Given the description of an element on the screen output the (x, y) to click on. 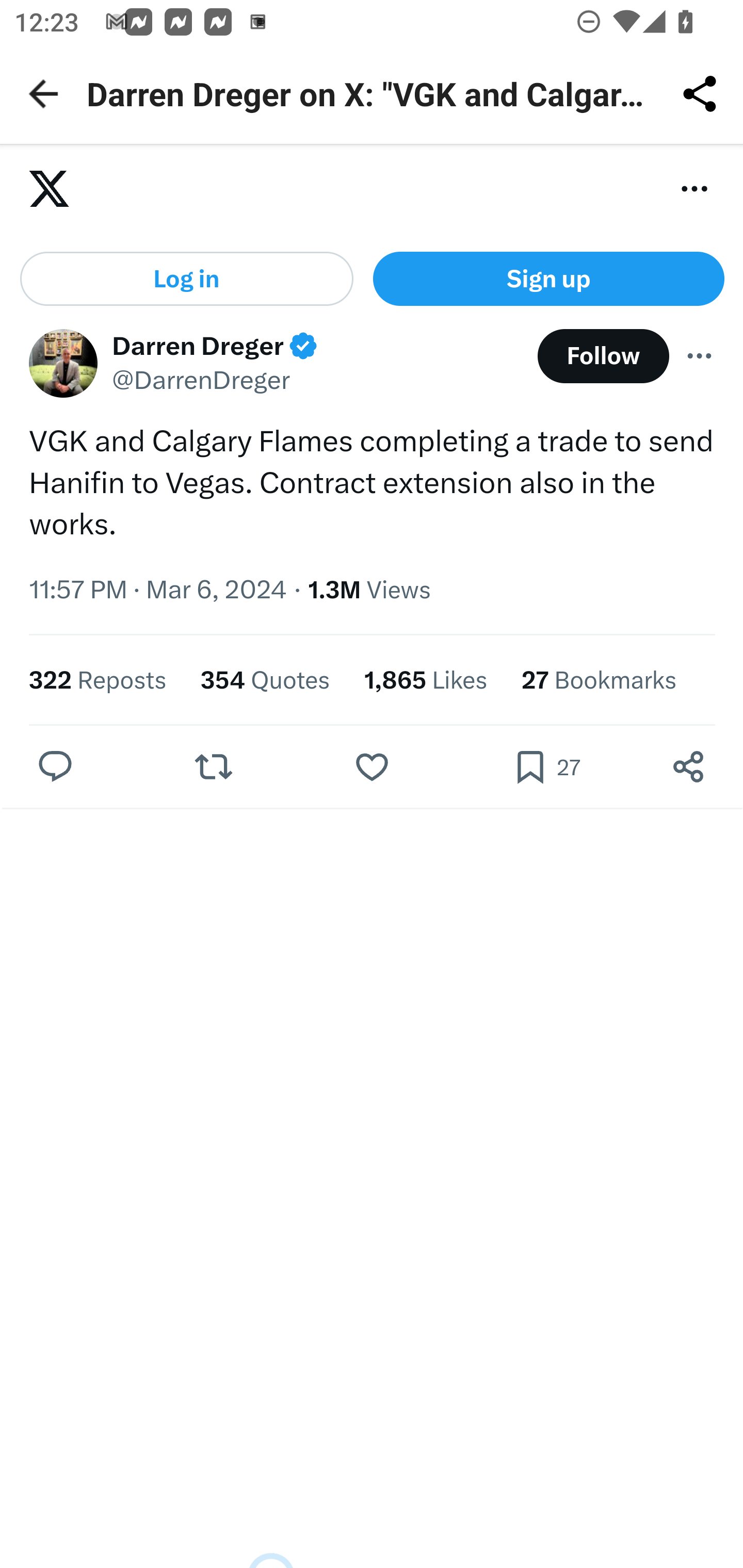
DarrenDreger (63, 364)
Follow @DarrenDreger (602, 357)
More (699, 356)
@DarrenDreger (201, 383)
11:57 PM · Mar 6, 2024 (157, 591)
322 Reposts 322   Reposts (97, 682)
354 Quotes 354   Quotes (263, 682)
1,865 Likes 1,865   Likes (424, 682)
Reply (55, 767)
Repost (212, 767)
Like (371, 767)
27 Bookmarks. Bookmark (546, 767)
Share post (688, 767)
